Given the description of an element on the screen output the (x, y) to click on. 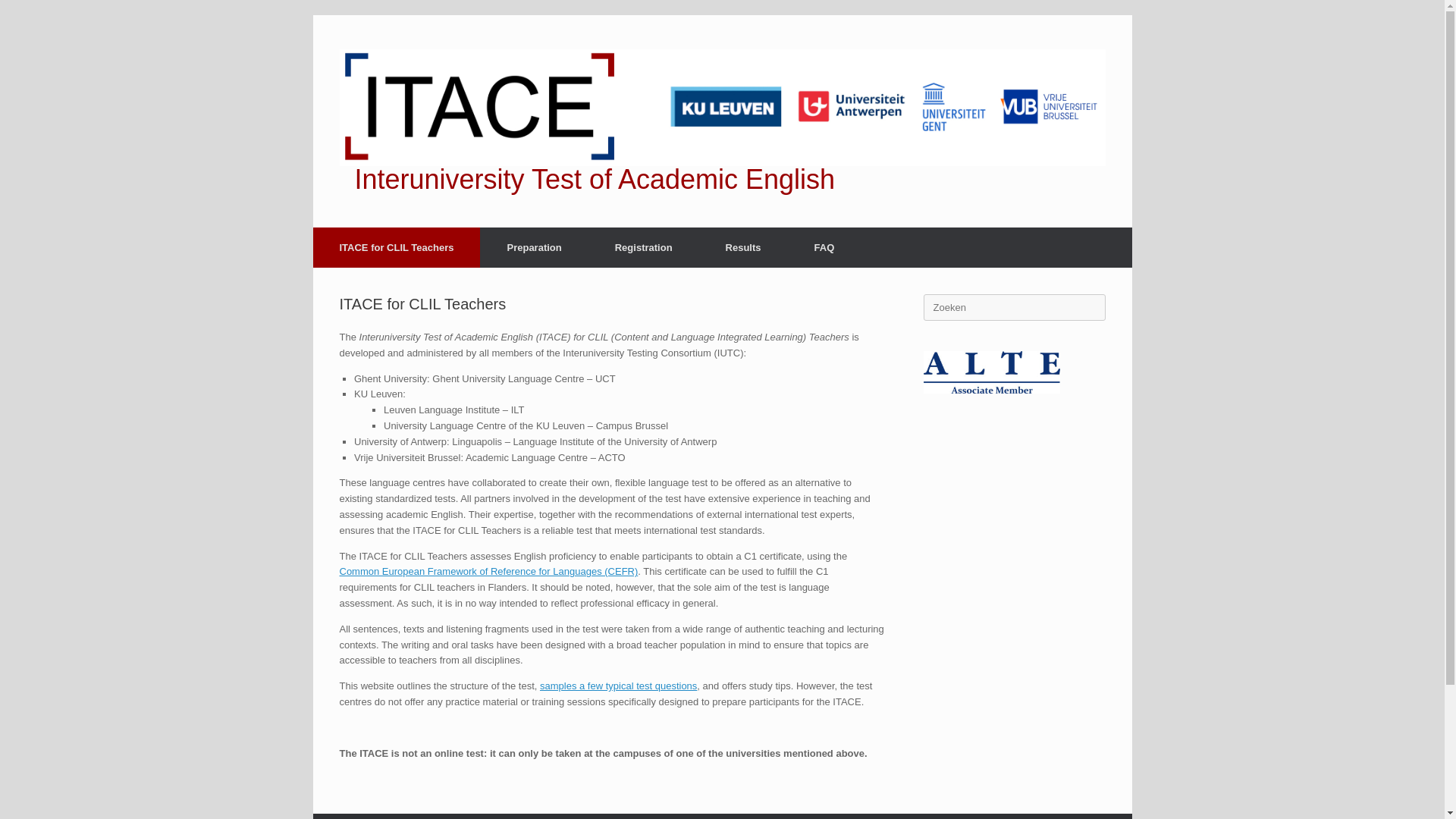
Interuniversity Test of Academic English (722, 121)
Preparation (534, 247)
samples a few typical test questions (618, 685)
Interuniversity Test of Academic English (722, 121)
FAQ (824, 247)
ITACE for CLIL Teachers (396, 247)
Results (742, 247)
Registration (643, 247)
